Given the description of an element on the screen output the (x, y) to click on. 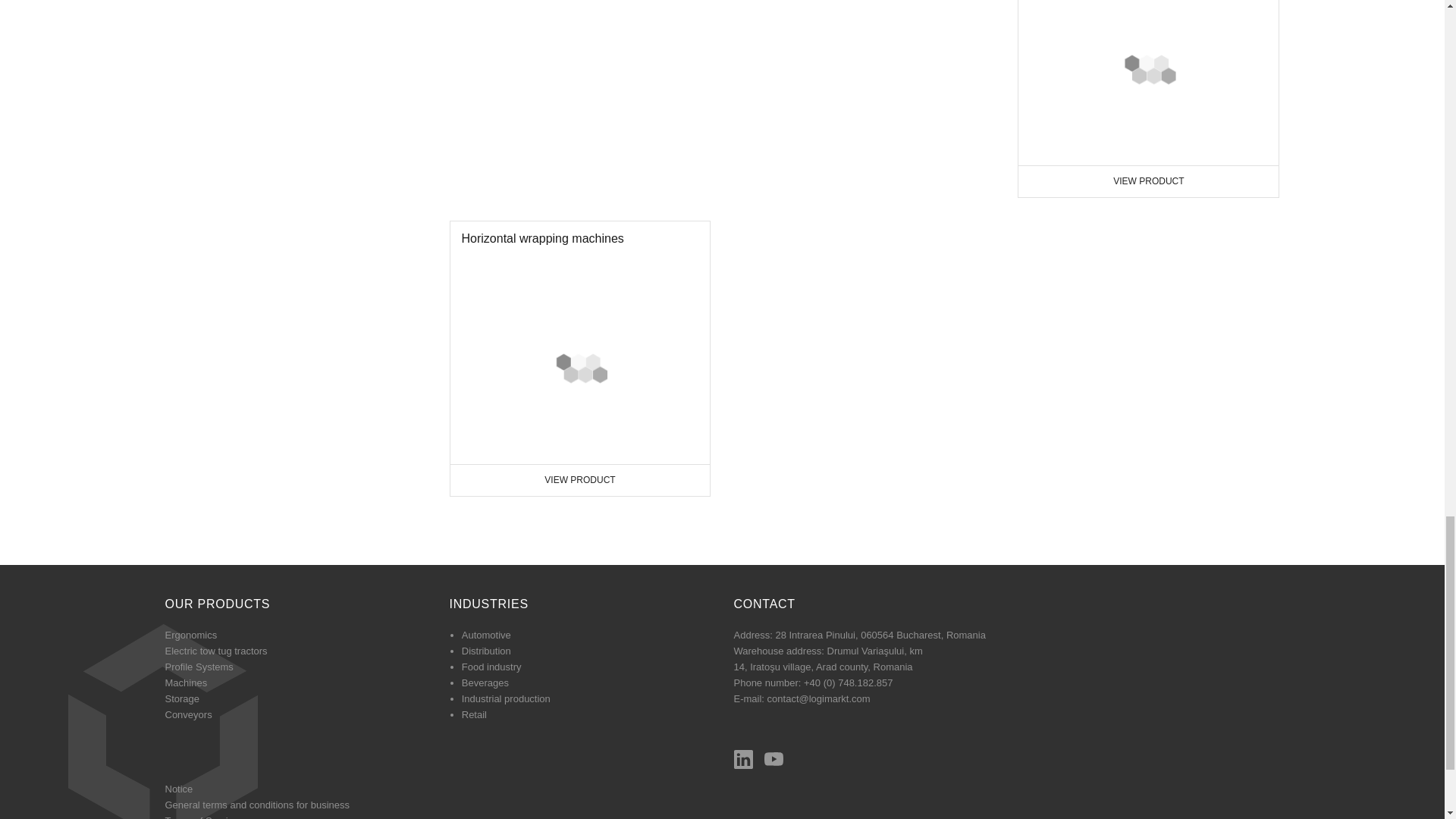
Statie de lucru 4D cu navete de plastic (579, 324)
Presa verticala automata pentru deseuri (1148, 198)
Machines (552, 80)
Electric tow tug tractors (1124, 209)
Profile Systems (186, 562)
Ergonomics (216, 530)
